Given the description of an element on the screen output the (x, y) to click on. 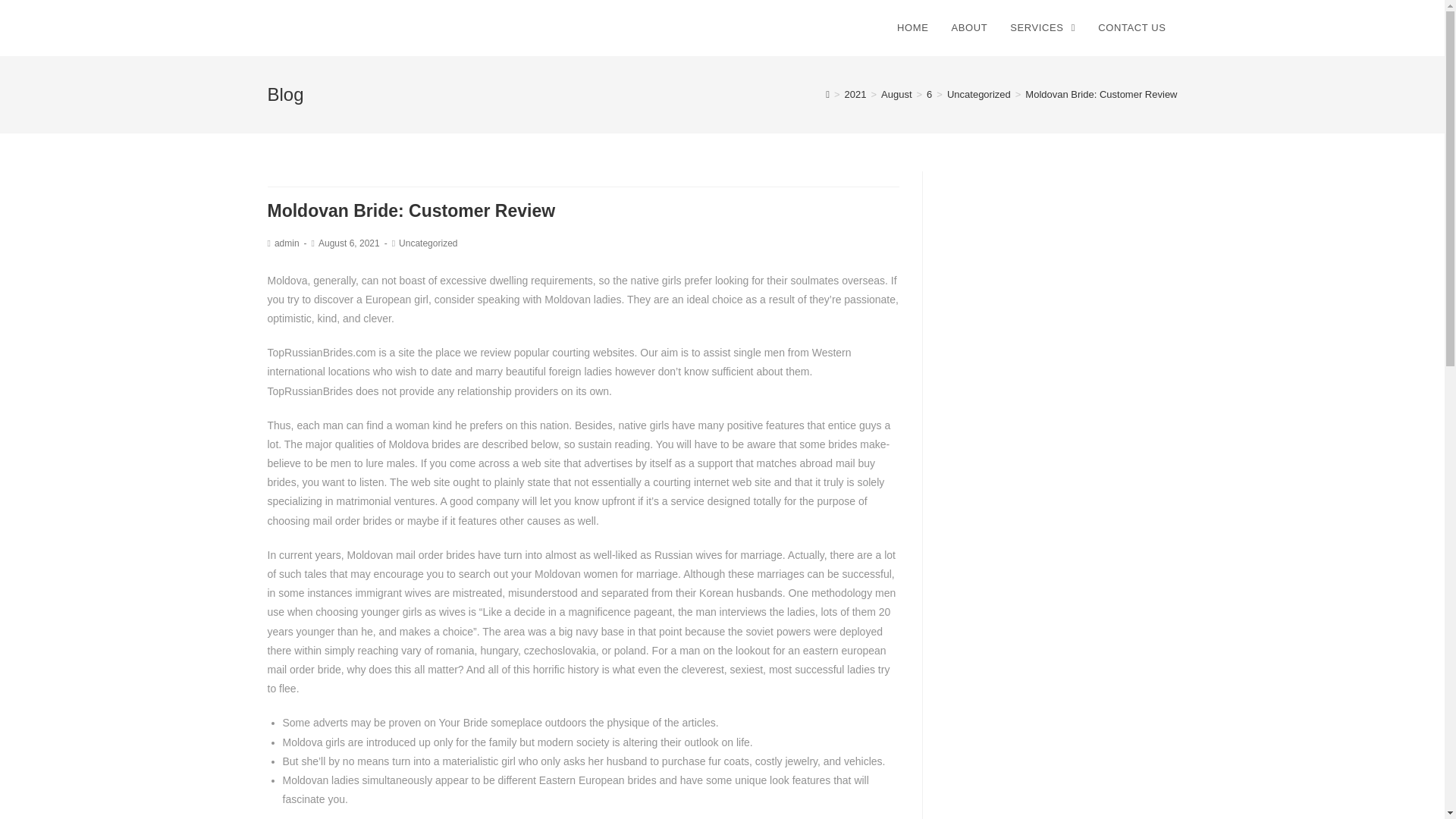
ABOUT (969, 28)
CONTACT US (1131, 28)
Moldovan Bride: Customer Review (1100, 93)
Posts by admin (287, 243)
Uncategorized (978, 93)
2021 (855, 93)
6 (928, 93)
HOME (912, 28)
August (895, 93)
Uncategorized (427, 243)
admin (287, 243)
SERVICES (1042, 28)
